Given the description of an element on the screen output the (x, y) to click on. 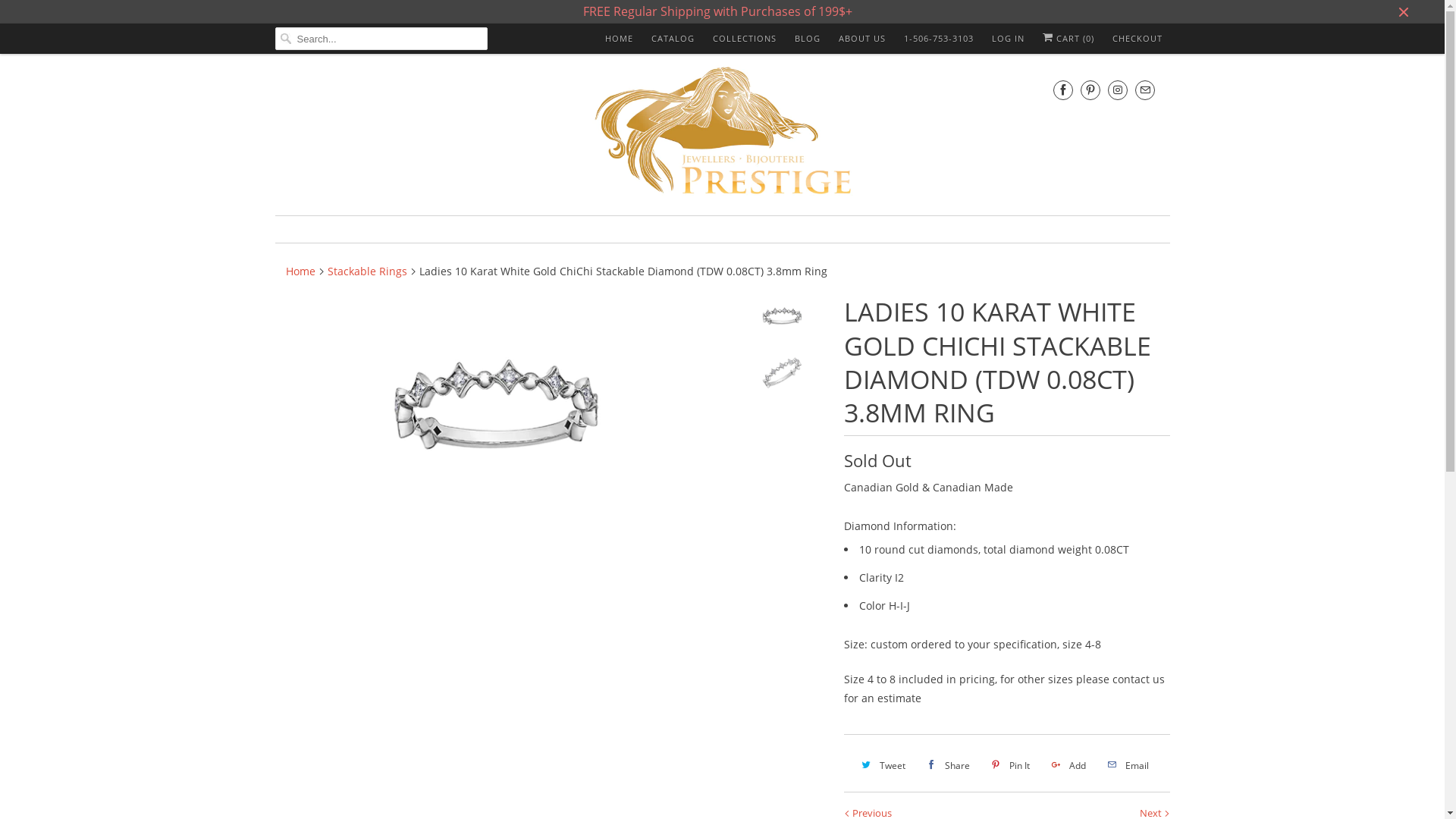
Bijouterie Prestige on Facebook Element type: hover (1062, 89)
Add Element type: text (1066, 765)
BLOG Element type: text (807, 38)
Share Element type: text (946, 765)
Tweet Element type: text (881, 765)
CART (0) Element type: text (1067, 38)
HOME Element type: text (619, 38)
Pin It Element type: text (1008, 765)
CHECKOUT Element type: text (1136, 38)
Bijouterie Prestige Element type: hover (722, 132)
1-506-753-3103 Element type: text (938, 38)
Bijouterie Prestige on Pinterest Element type: hover (1089, 89)
CATALOG Element type: text (671, 38)
COLLECTIONS Element type: text (744, 38)
Stackable Rings Element type: text (367, 270)
Email Element type: text (1126, 765)
Email Bijouterie Prestige Element type: hover (1144, 89)
LOG IN Element type: text (1007, 38)
Home Element type: text (299, 270)
ABOUT US Element type: text (861, 38)
Bijouterie Prestige on Instagram Element type: hover (1116, 89)
